Given the description of an element on the screen output the (x, y) to click on. 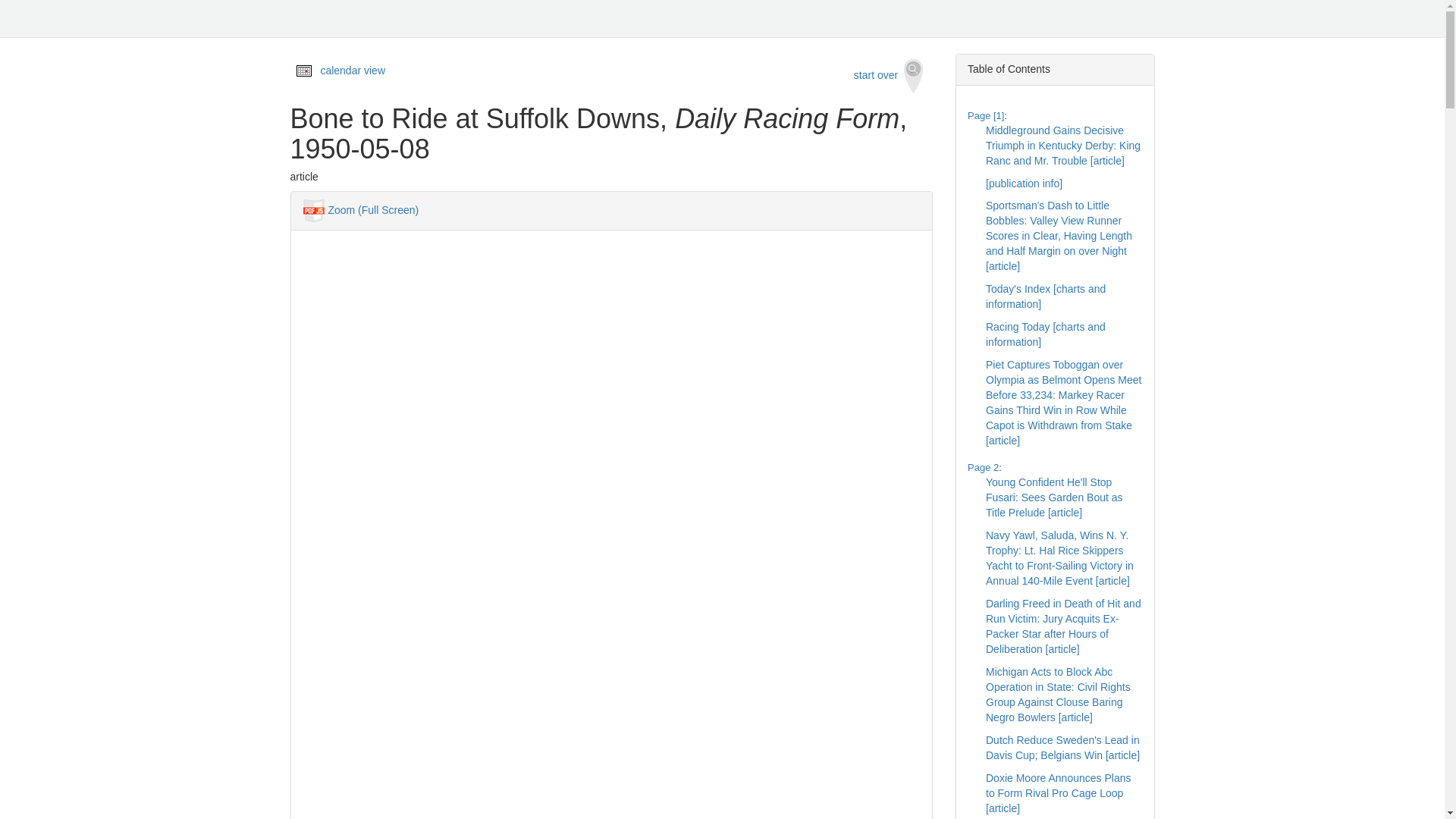
start over   (888, 76)
calendar view (352, 70)
Page 2 (983, 467)
